Given the description of an element on the screen output the (x, y) to click on. 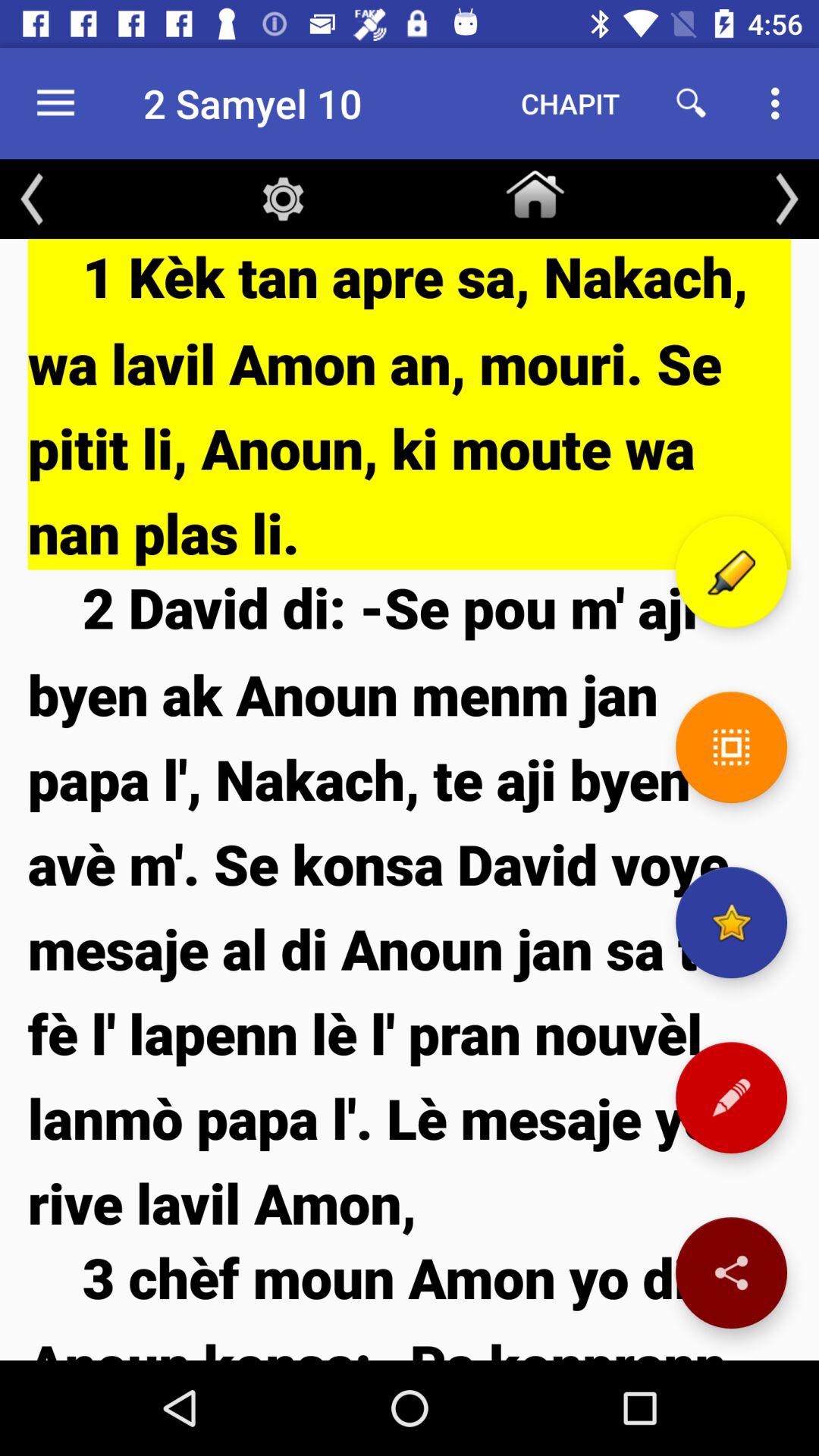
launch the icon below 2 david di icon (409, 1299)
